Given the description of an element on the screen output the (x, y) to click on. 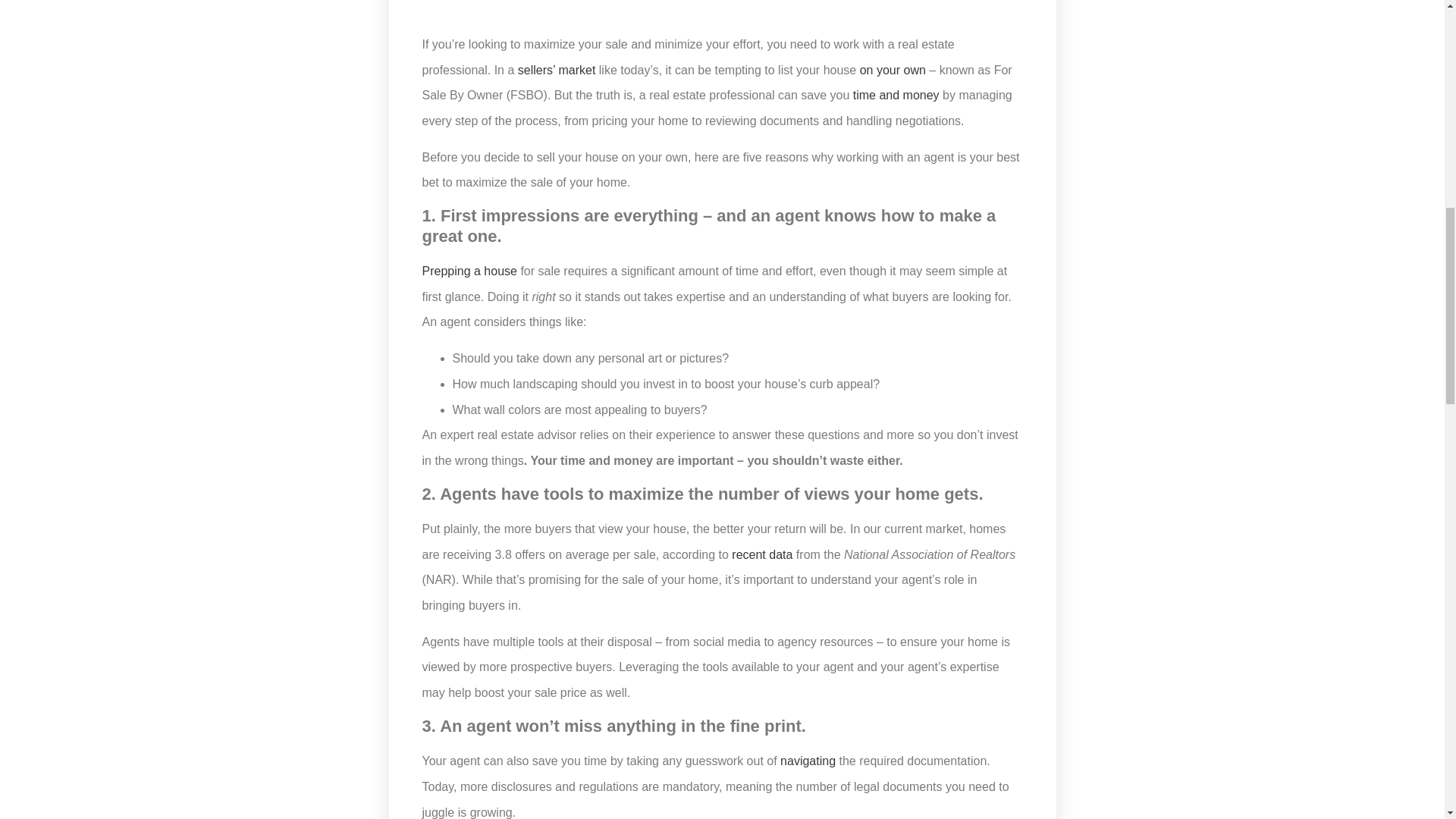
navigating (807, 760)
time and money (896, 94)
Prepping a house (469, 270)
on your own (893, 69)
recent data (762, 554)
